Given the description of an element on the screen output the (x, y) to click on. 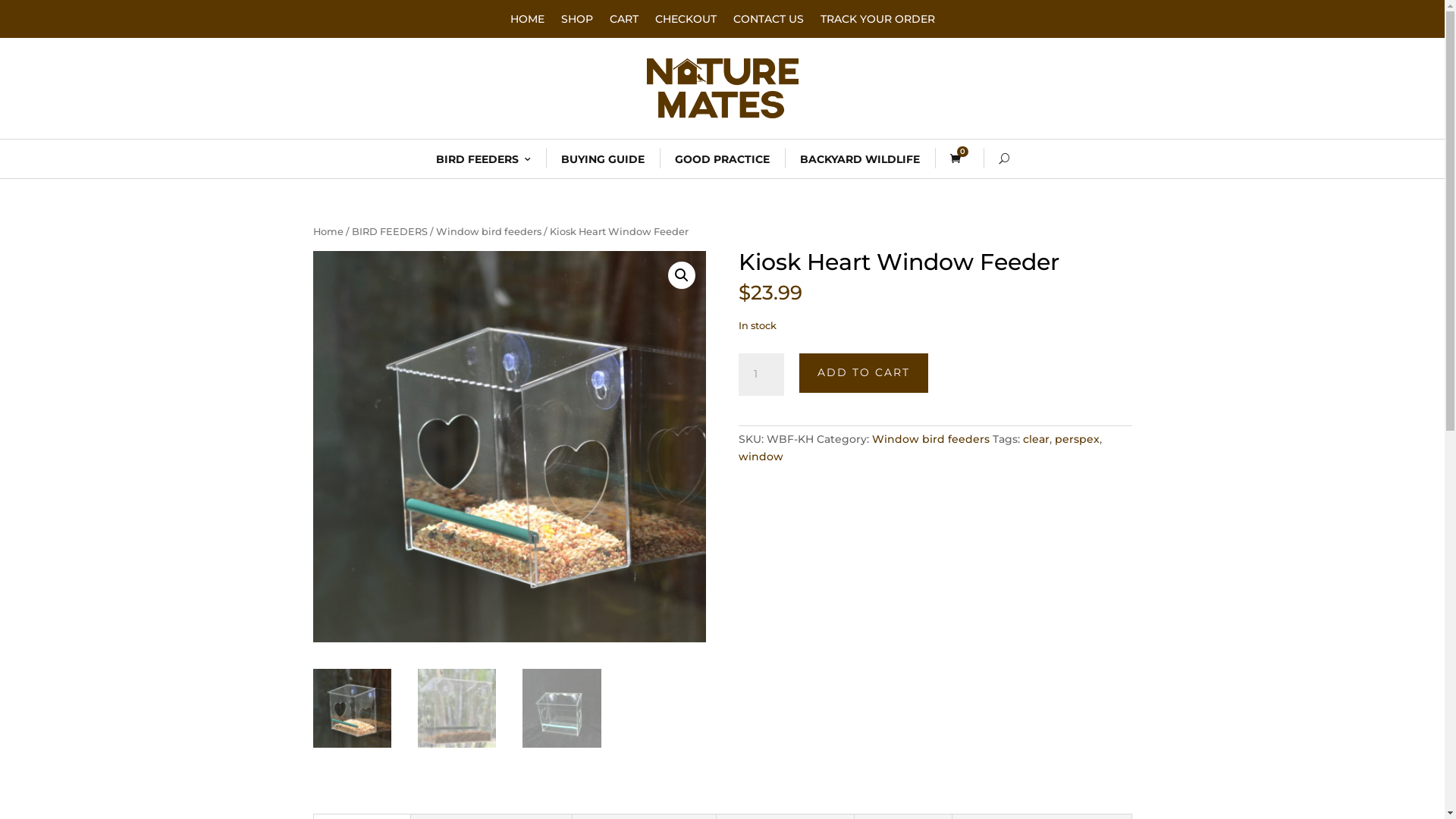
ADD TO CART Element type: text (863, 372)
0 Element type: text (958, 158)
Nature Mates Website Logo Element type: hover (721, 88)
CONTACT US Element type: text (767, 21)
clear Element type: text (1035, 438)
TRACK YOUR ORDER Element type: text (877, 21)
SHOP Element type: text (577, 21)
perspex Element type: text (1076, 438)
window Element type: text (760, 456)
BUYING GUIDE Element type: text (602, 158)
Kiosk-Heart-Window-Feeder-Featured Element type: hover (508, 447)
CART Element type: text (623, 21)
Window bird feeders Element type: text (487, 231)
Home Element type: text (327, 231)
BIRD FEEDERS Element type: text (389, 231)
CHECKOUT Element type: text (685, 21)
Window bird feeders Element type: text (930, 438)
HOME Element type: text (526, 21)
BIRD FEEDERS Element type: text (482, 158)
GOOD PRACTICE Element type: text (721, 158)
BACKYARD WILDLIFE Element type: text (859, 158)
